Given the description of an element on the screen output the (x, y) to click on. 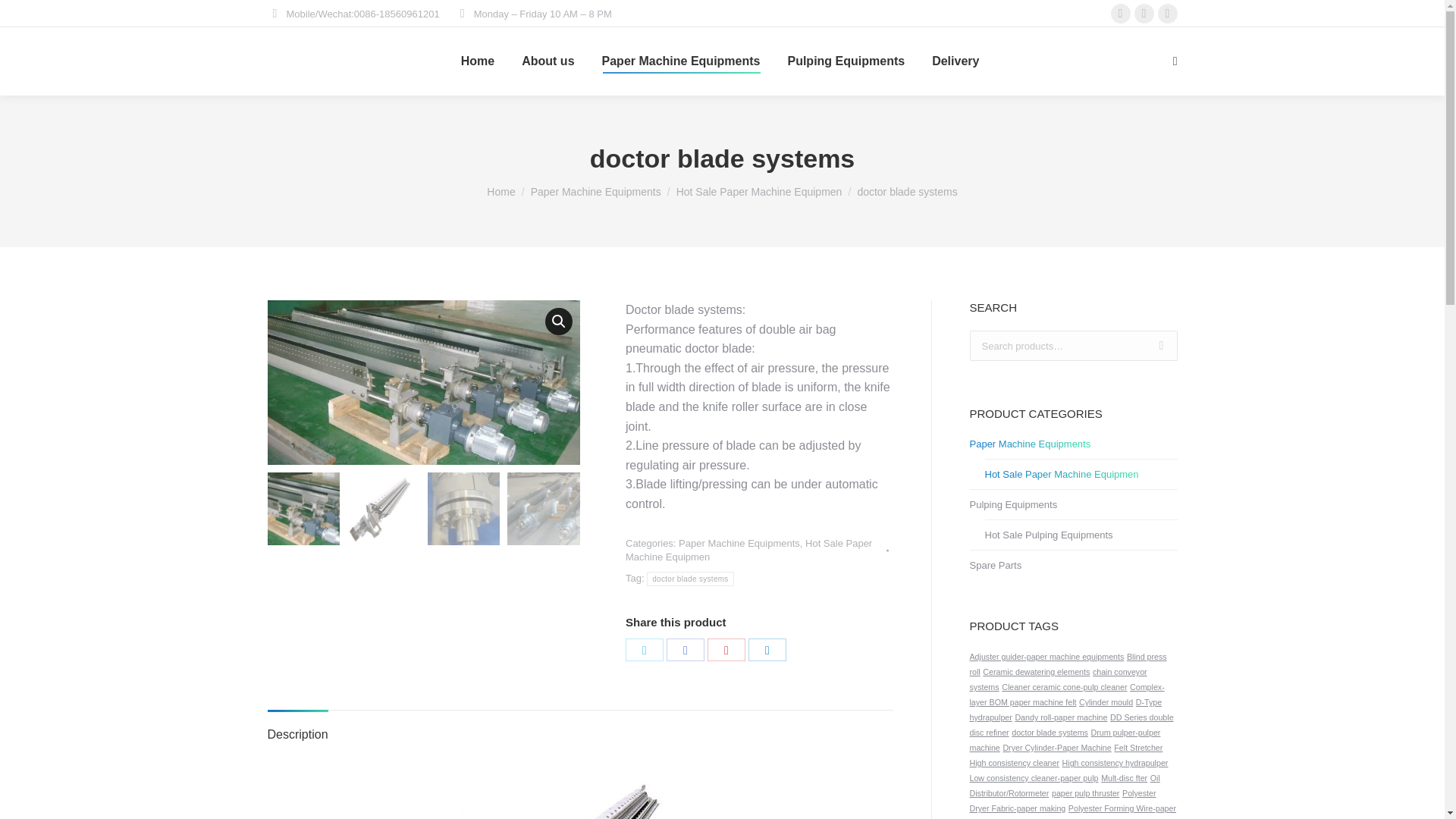
Pulping Equipments (845, 60)
Go! (11, 16)
YouTube page opens in new window (1144, 13)
Facebook page opens in new window (1167, 13)
Paper Machine Equipments (596, 191)
Linkedin page opens in new window (1120, 13)
YouTube page opens in new window (1144, 13)
Home (477, 60)
Facebook page opens in new window (1167, 13)
Hot Sale Paper Machine Equipmen (760, 191)
About us (547, 60)
Paper Machine Equipments (680, 60)
Home (500, 191)
Linkedin page opens in new window (1120, 13)
doctor blade systems-paper machine equipments (422, 382)
